Given the description of an element on the screen output the (x, y) to click on. 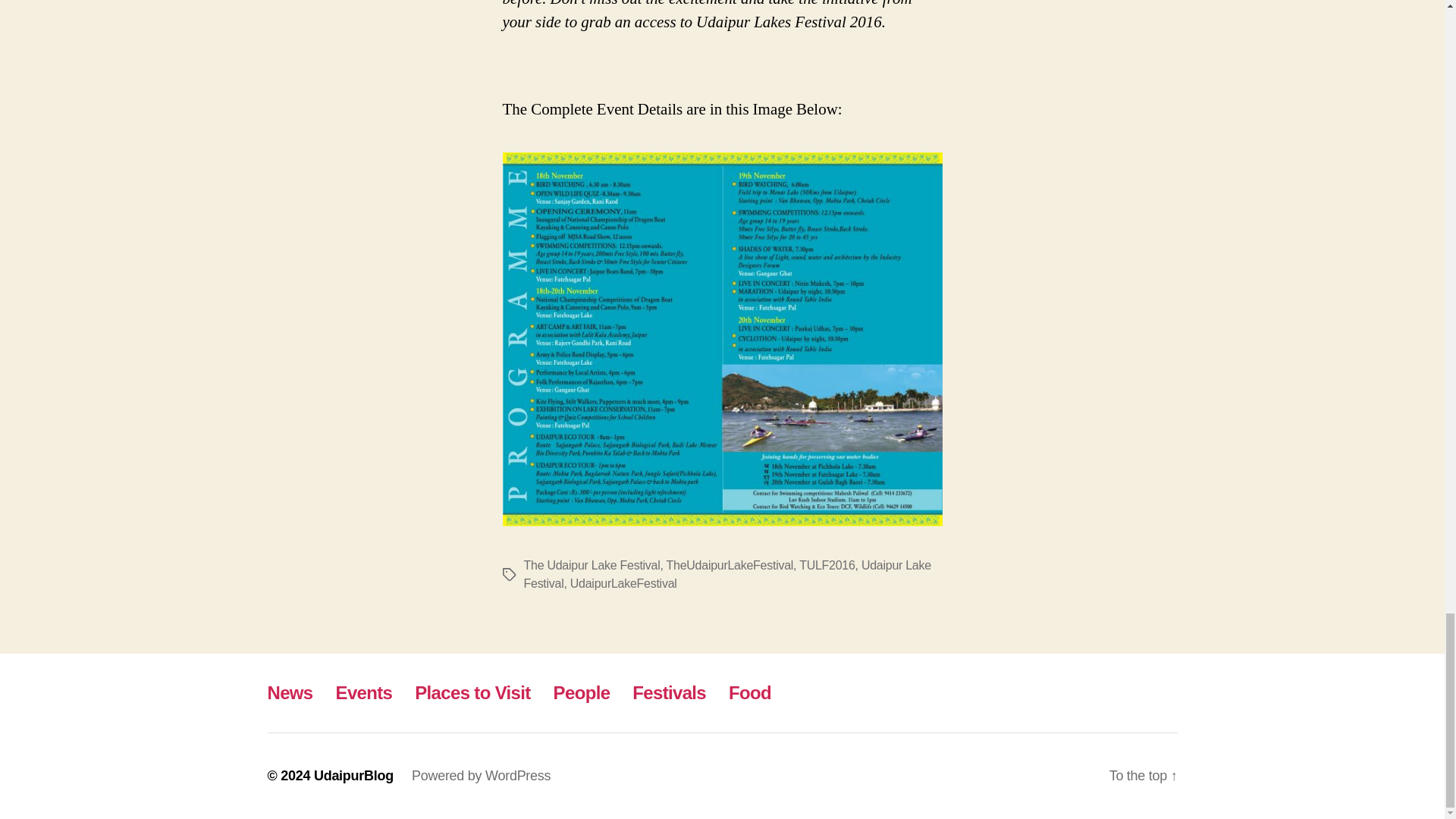
TheUdaipurLakeFestival (729, 564)
News (289, 692)
Events (364, 692)
Udaipur Lake Festival (726, 573)
The Udaipur Lake Festival (590, 564)
TULF2016 (826, 564)
Places to Visit (471, 692)
UdaipurLakeFestival (623, 583)
